Given the description of an element on the screen output the (x, y) to click on. 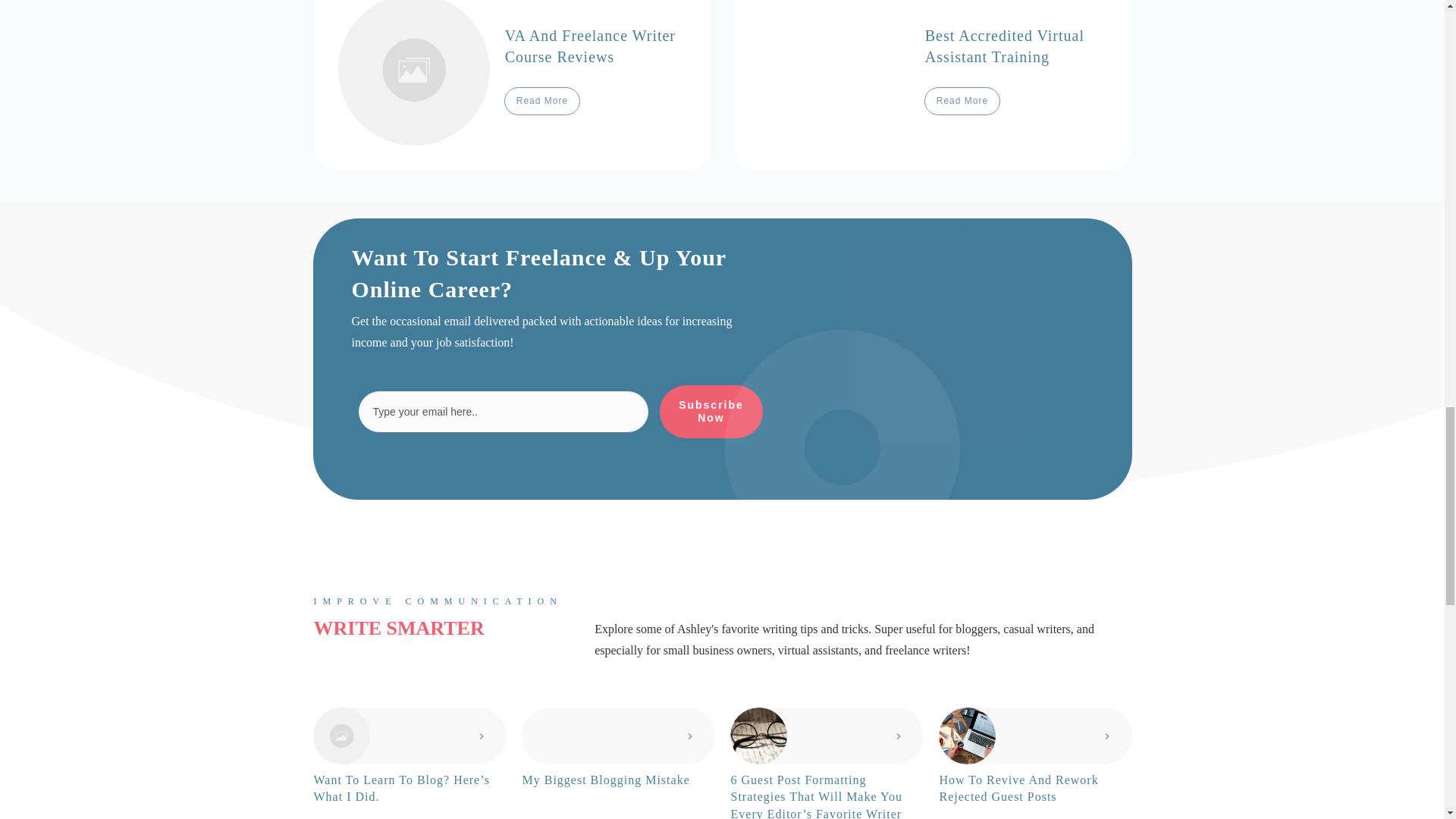
VA and Freelance Writer Course Reviews (590, 46)
VA And Freelance Writer Course Reviews (590, 46)
VA and Freelance Writer Course Reviews (512, 84)
Read More (541, 100)
Subscribe Now (710, 411)
My Biggest Blogging Mistake (604, 779)
Best Accredited Virtual Assistant Training (1004, 46)
Best Accredited Virtual Assistant Training (1004, 46)
Best Accredited Virtual Assistant Training (932, 84)
Read More (962, 100)
